Given the description of an element on the screen output the (x, y) to click on. 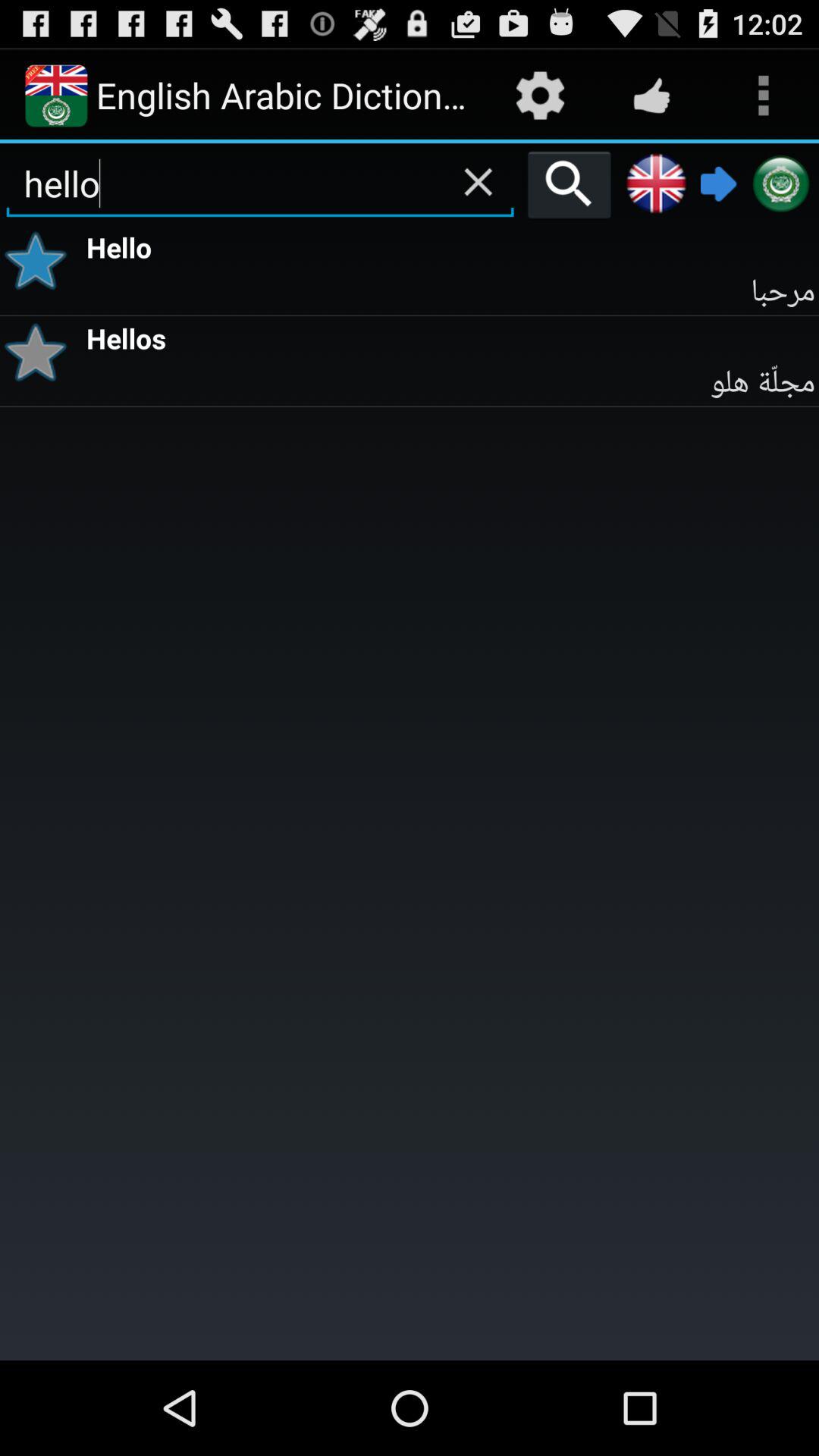
click the icon next to the english arabic dictionary icon (540, 95)
